Given the description of an element on the screen output the (x, y) to click on. 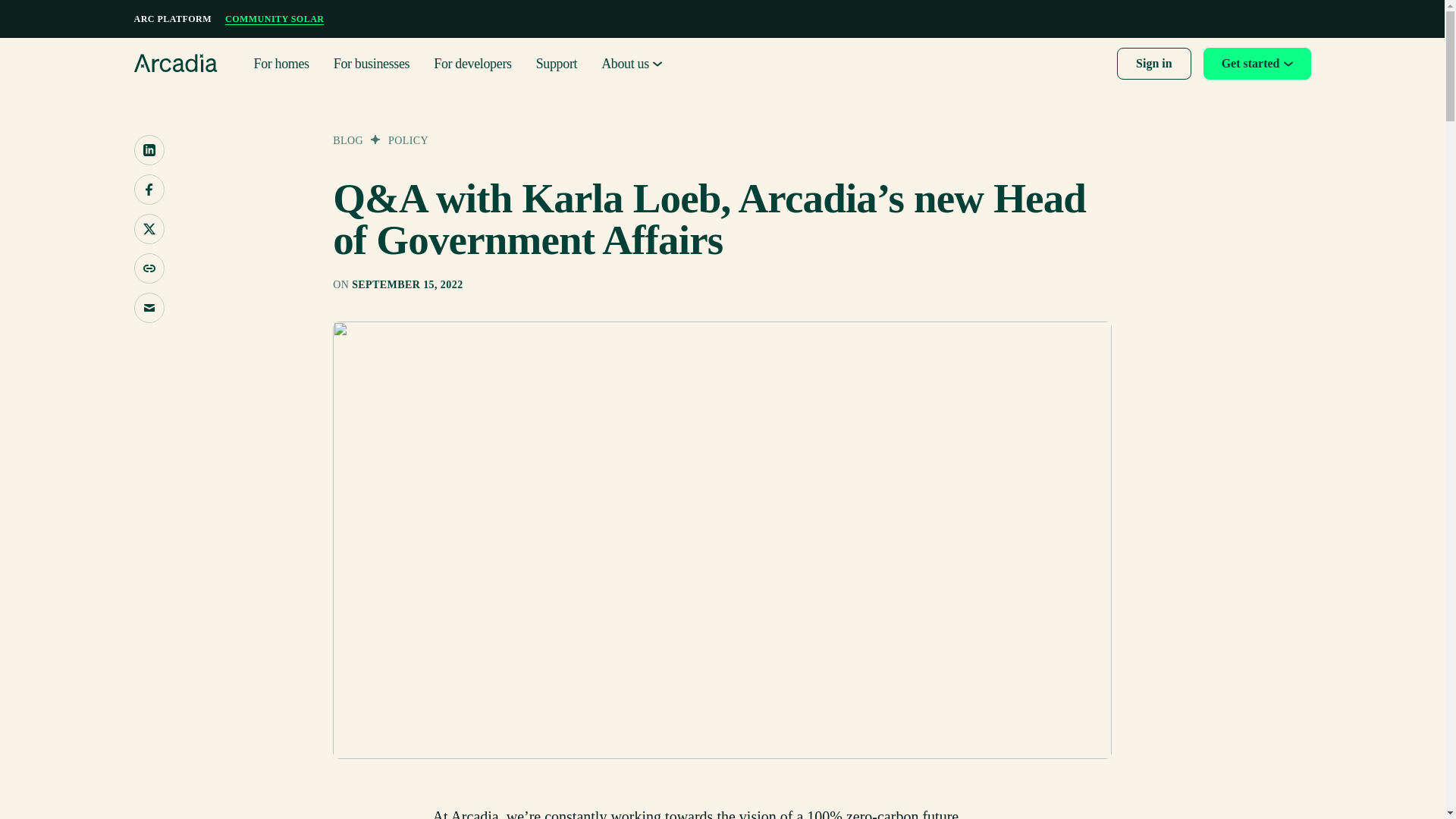
Get started (1257, 63)
For homes (280, 63)
ARC PLATFORM (172, 18)
Support (556, 63)
COMMUNITY SOLAR (274, 18)
BLOG (347, 141)
About us (631, 63)
Sign in (1153, 63)
POLICY (408, 141)
For businesses (371, 63)
